Given the description of an element on the screen output the (x, y) to click on. 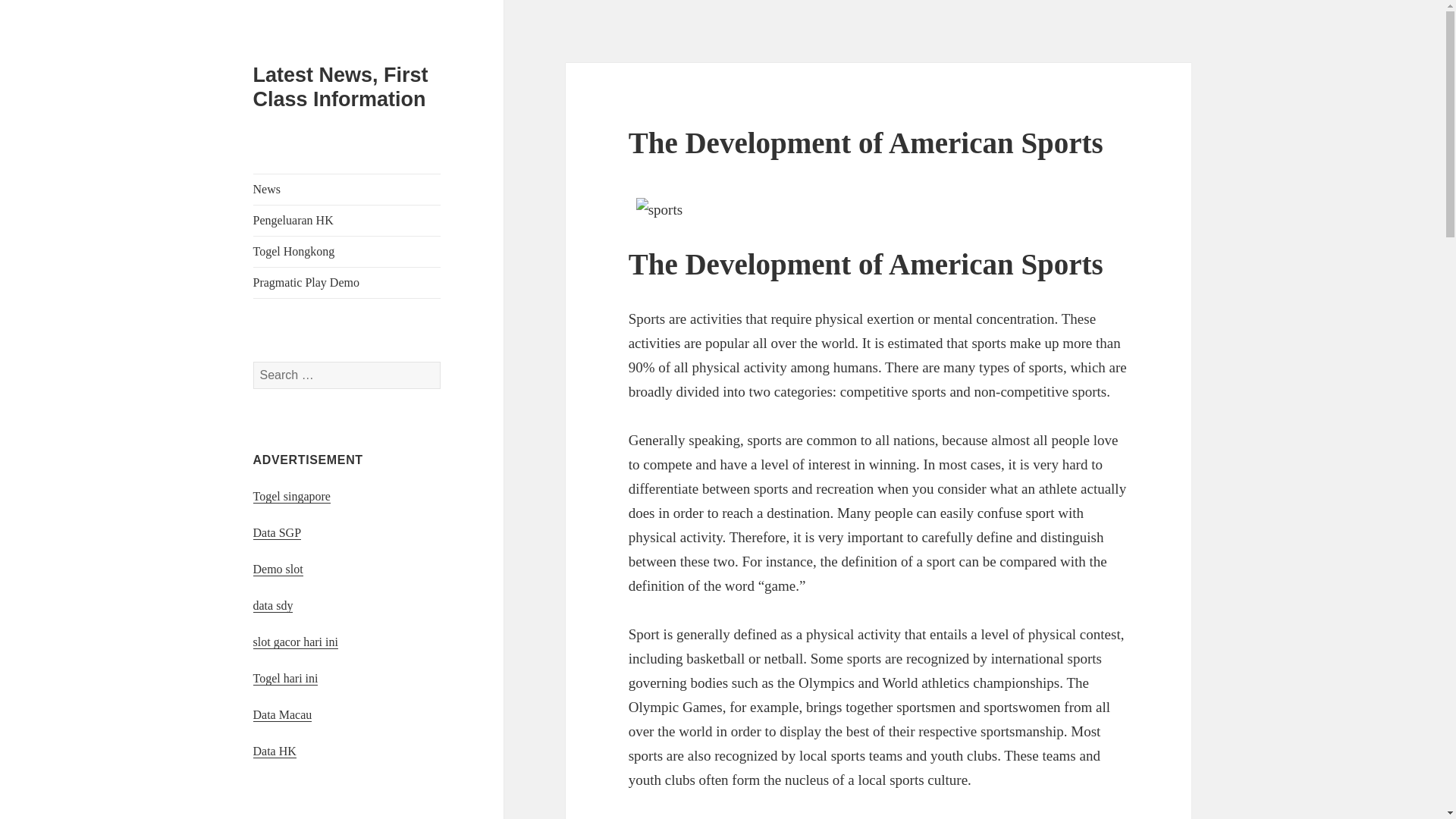
Demo slot (277, 569)
Data HK (275, 751)
Data Macau (283, 714)
News (347, 189)
Togel singapore (291, 496)
Togel Hongkong (347, 251)
data sdy (273, 605)
Pragmatic Play Demo (347, 282)
